Given the description of an element on the screen output the (x, y) to click on. 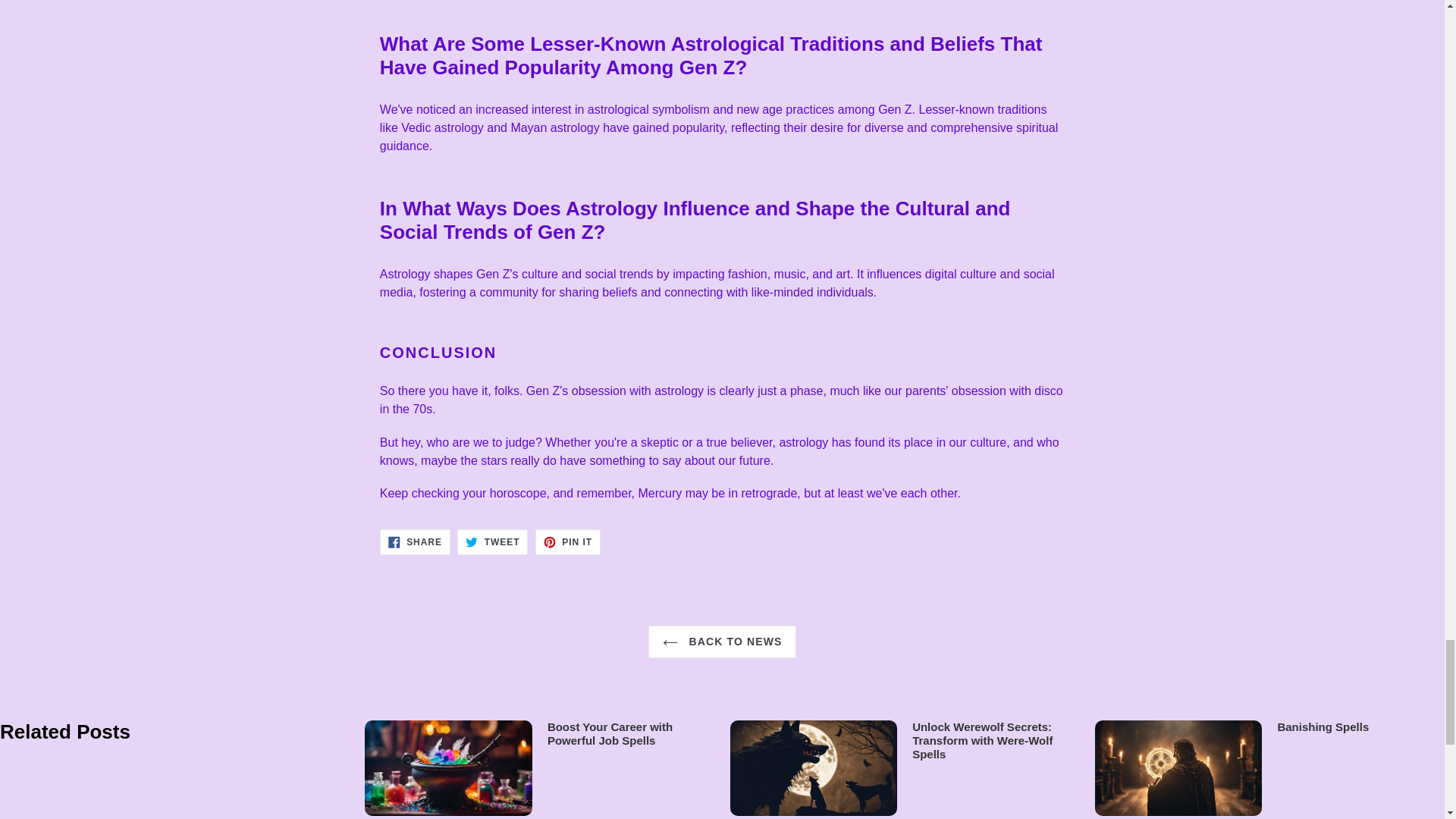
Pin on Pinterest (567, 542)
Share on Facebook (414, 542)
Tweet on Twitter (492, 542)
